Given the description of an element on the screen output the (x, y) to click on. 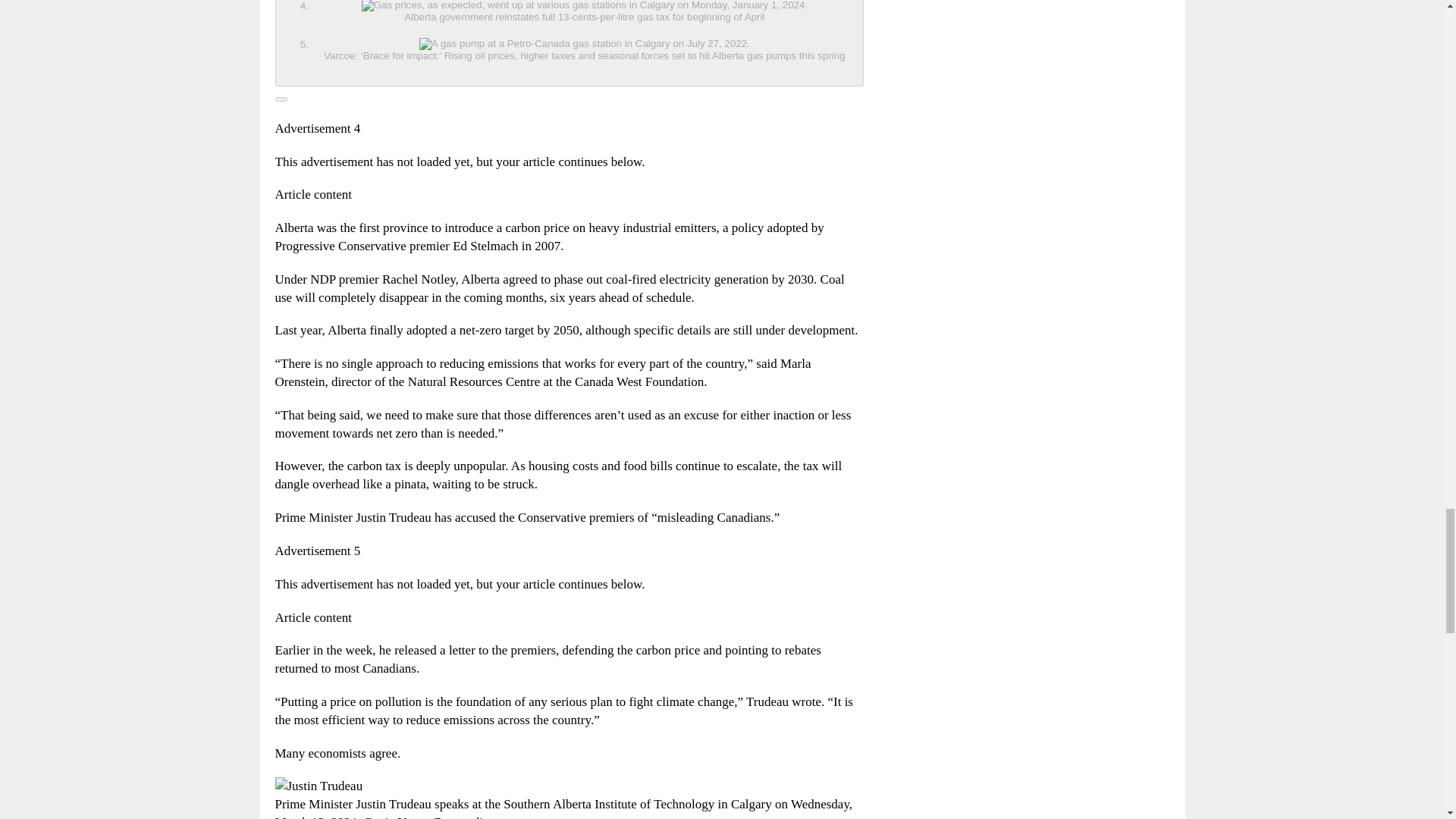
next (280, 99)
previous (569, 43)
